Given the description of an element on the screen output the (x, y) to click on. 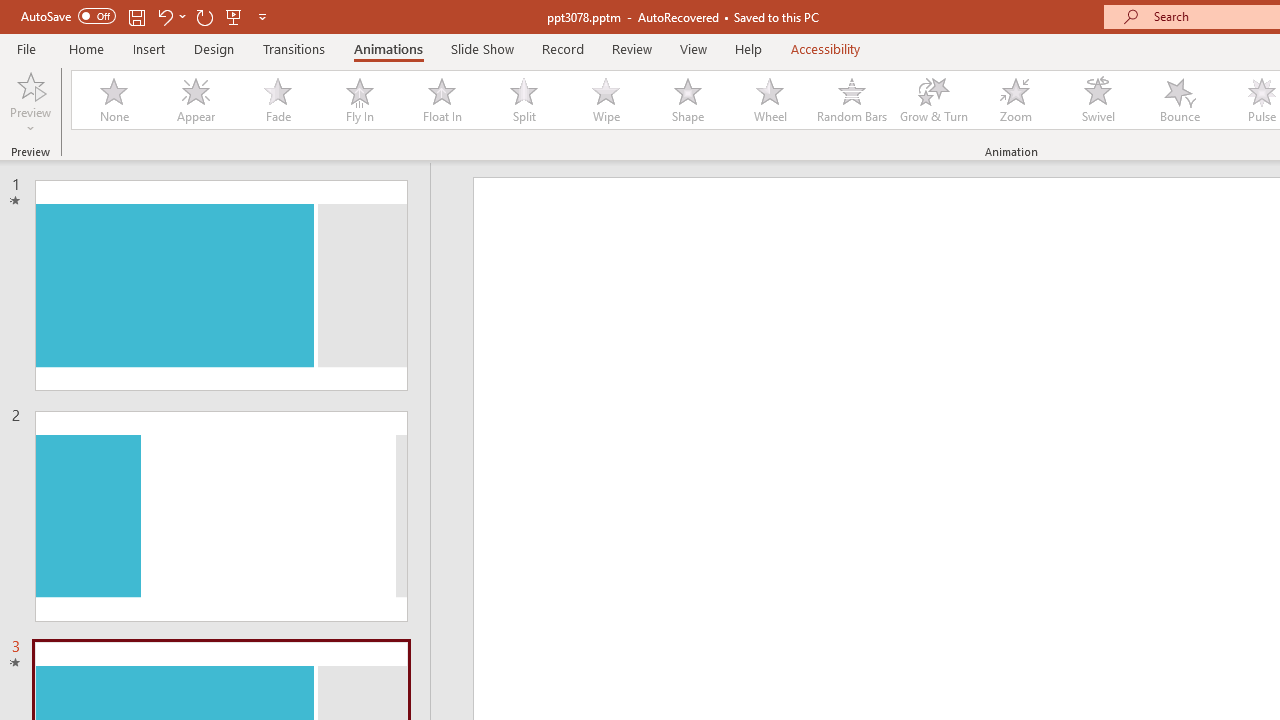
Swivel (1098, 100)
Float In (441, 100)
Shape (687, 100)
Wheel (770, 100)
Fly In (359, 100)
Random Bars (852, 100)
Wipe (605, 100)
